Given the description of an element on the screen output the (x, y) to click on. 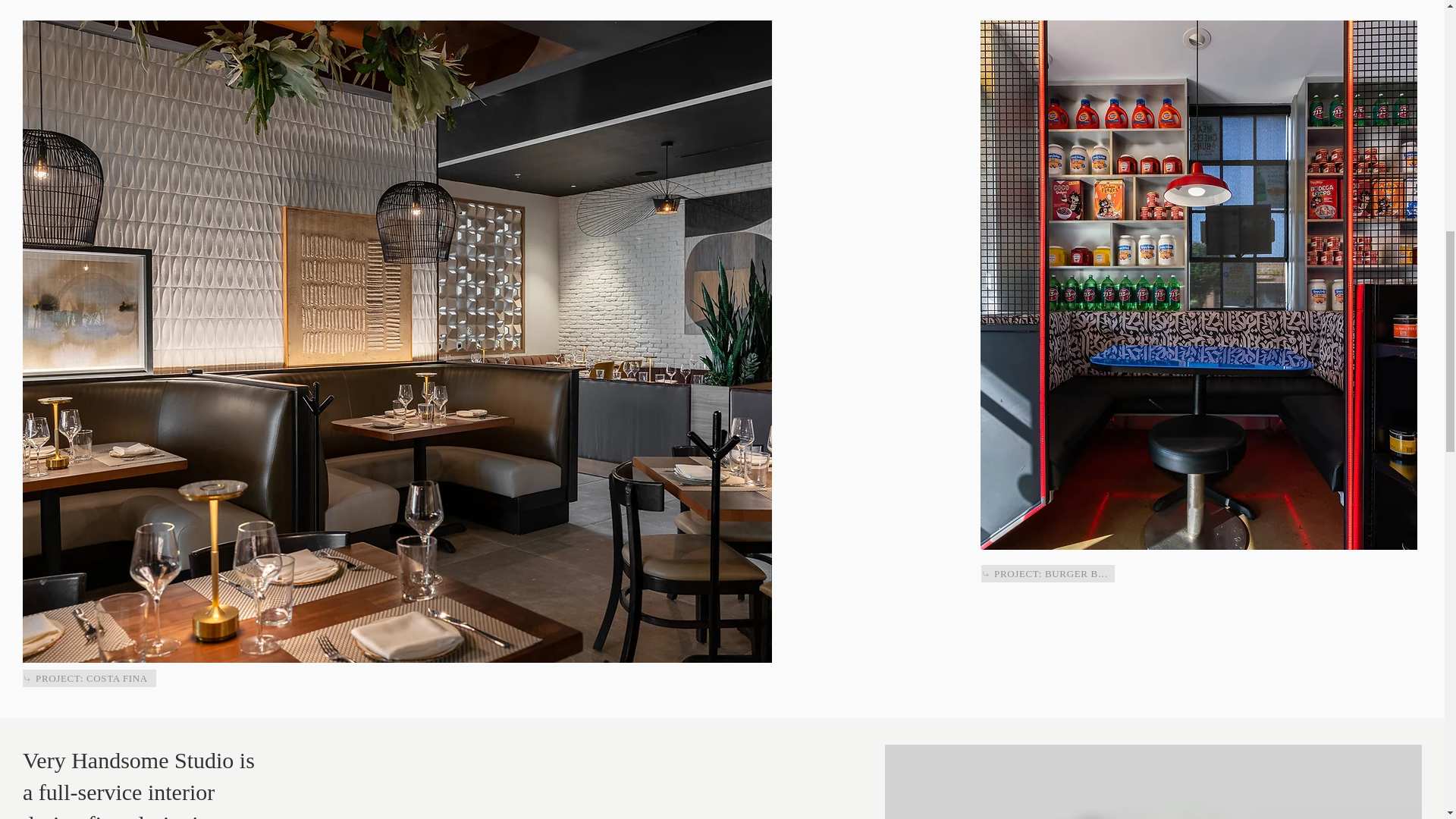
PROJECT: COSTA FINA (89, 678)
PROJECT: BURGER BODEGA (1048, 573)
